Given the description of an element on the screen output the (x, y) to click on. 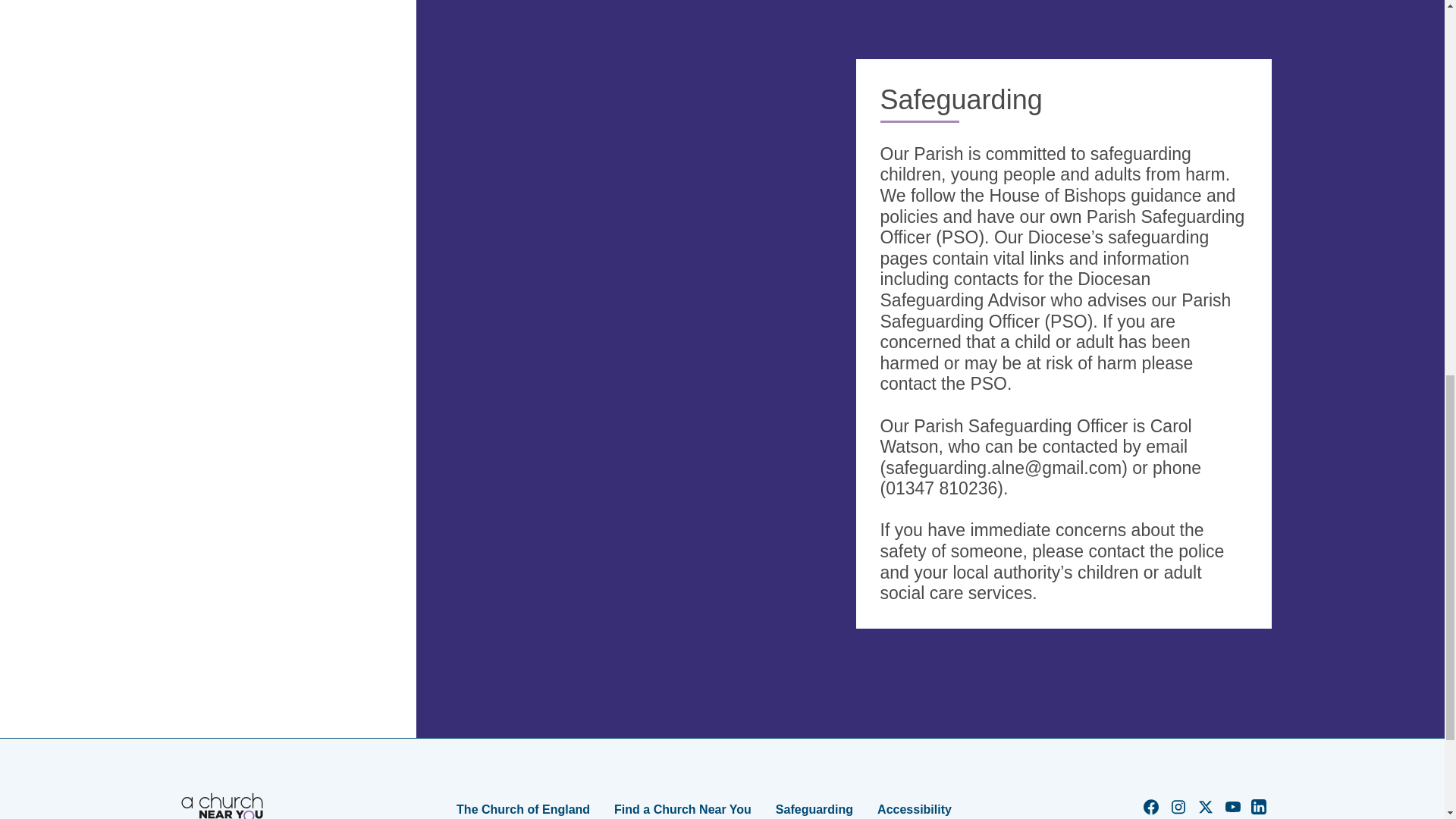
Church of England Facebook (1150, 811)
The Church of England (523, 809)
Church of England Instagram (1178, 811)
Accessibility (914, 809)
Safeguarding (814, 809)
Church of England Twitter (1205, 811)
ACNY home (221, 805)
Find a Church Near You (682, 809)
